Given the description of an element on the screen output the (x, y) to click on. 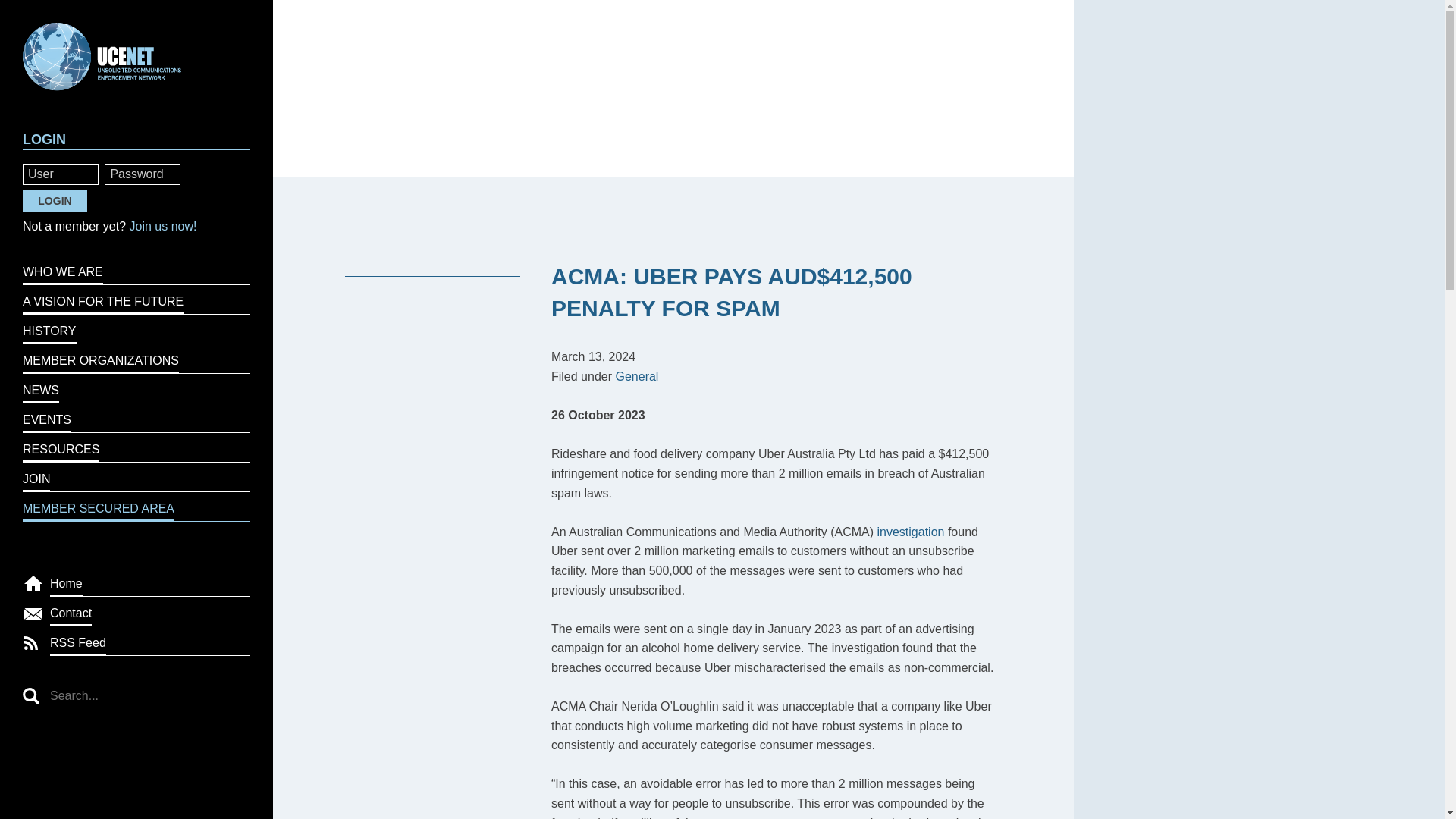
JOIN (136, 477)
Search for: (149, 693)
Contact (149, 611)
RESOURCES (136, 447)
investigation (910, 531)
Join us now! (162, 226)
A VISION FOR THE FUTURE (136, 299)
Search (31, 695)
Home (149, 582)
NEWS (136, 388)
EVENTS (136, 418)
MEMBER SECURED AREA (136, 506)
Search (31, 695)
MEMBER ORGANIZATIONS (136, 358)
HISTORY (136, 328)
